Given the description of an element on the screen output the (x, y) to click on. 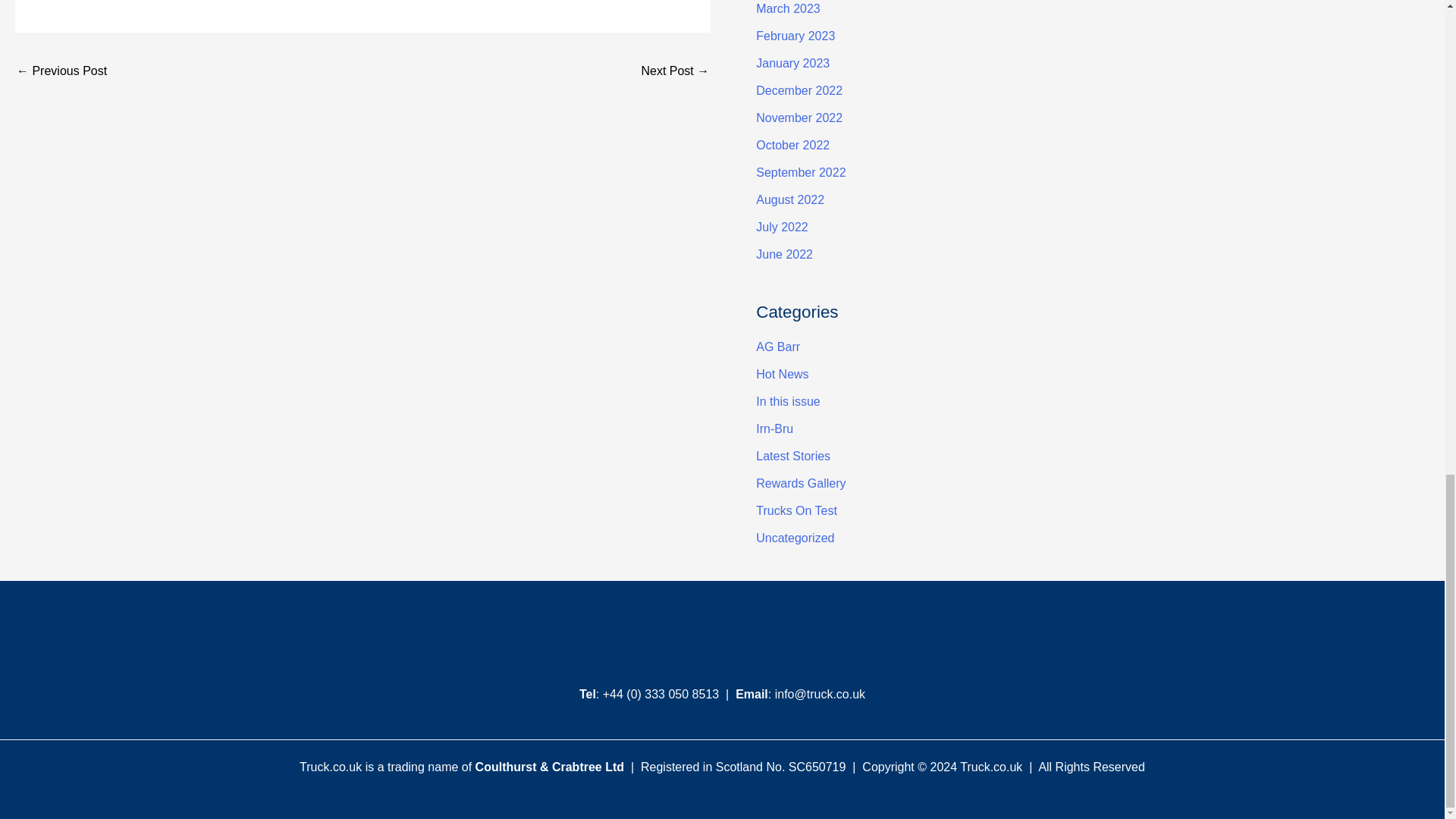
Call For Improved Facilities For HGV Drivers (674, 72)
